Given the description of an element on the screen output the (x, y) to click on. 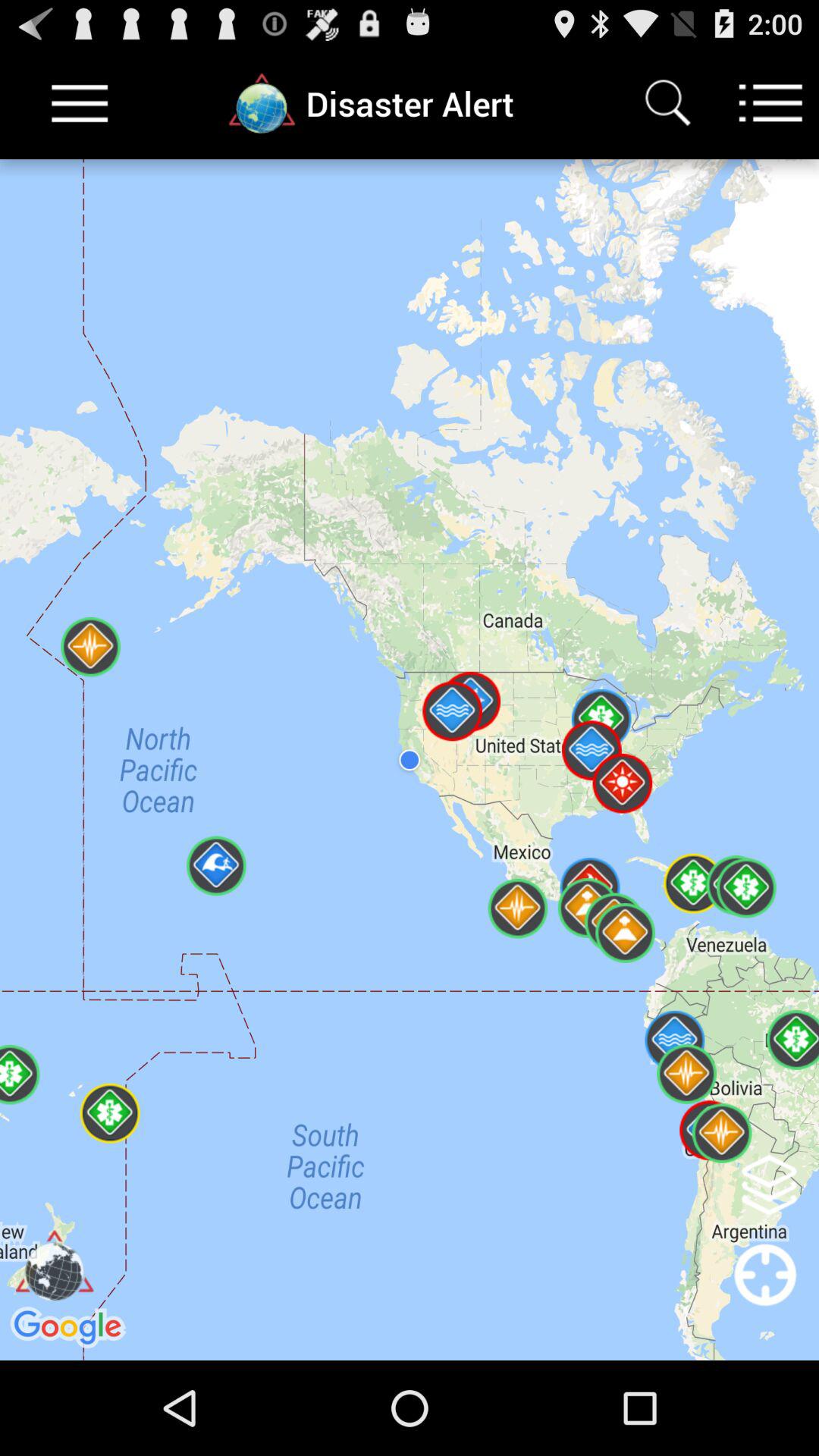
explore menu options (770, 103)
